Given the description of an element on the screen output the (x, y) to click on. 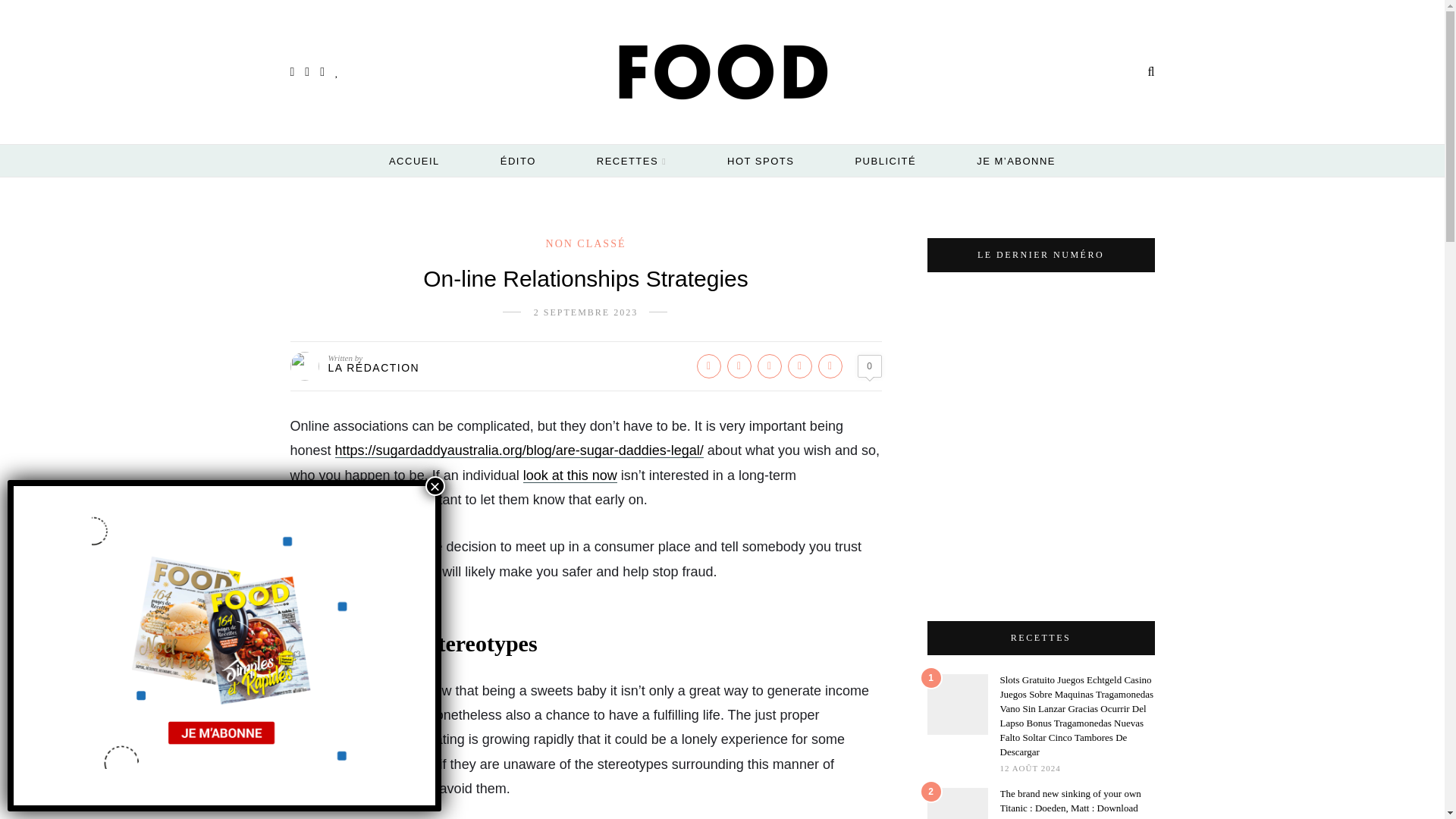
2 SEPTEMBRE 2023 (585, 312)
RECETTES (631, 161)
HOT SPOTS (759, 160)
ACCUEIL (413, 160)
